Given the description of an element on the screen output the (x, y) to click on. 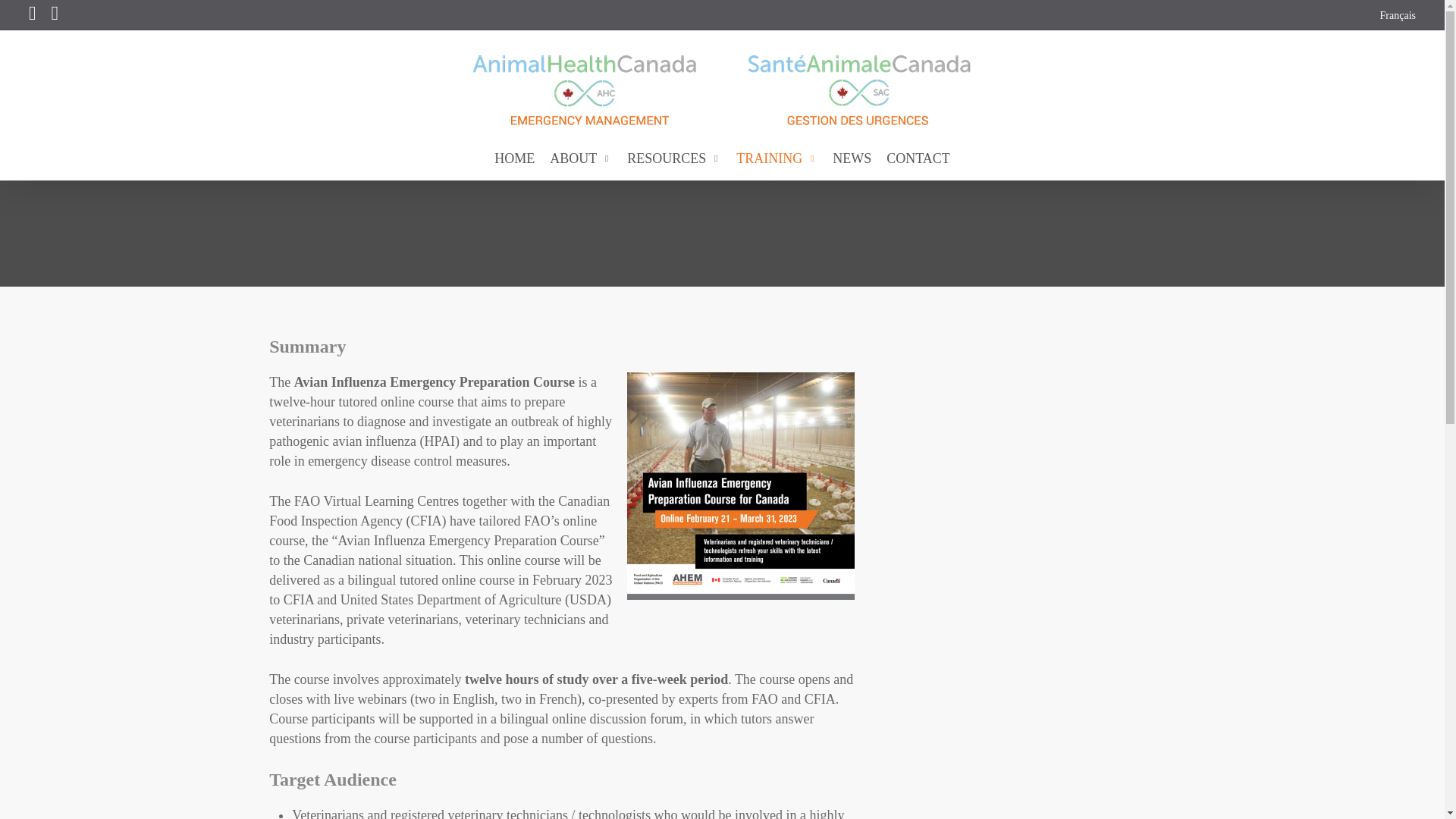
CONTACT (918, 158)
ABOUT (580, 158)
RESOURCES (674, 158)
TRAINING (777, 158)
HOME (513, 158)
twitter (32, 15)
NEWS (852, 158)
youtube (54, 15)
